Given the description of an element on the screen output the (x, y) to click on. 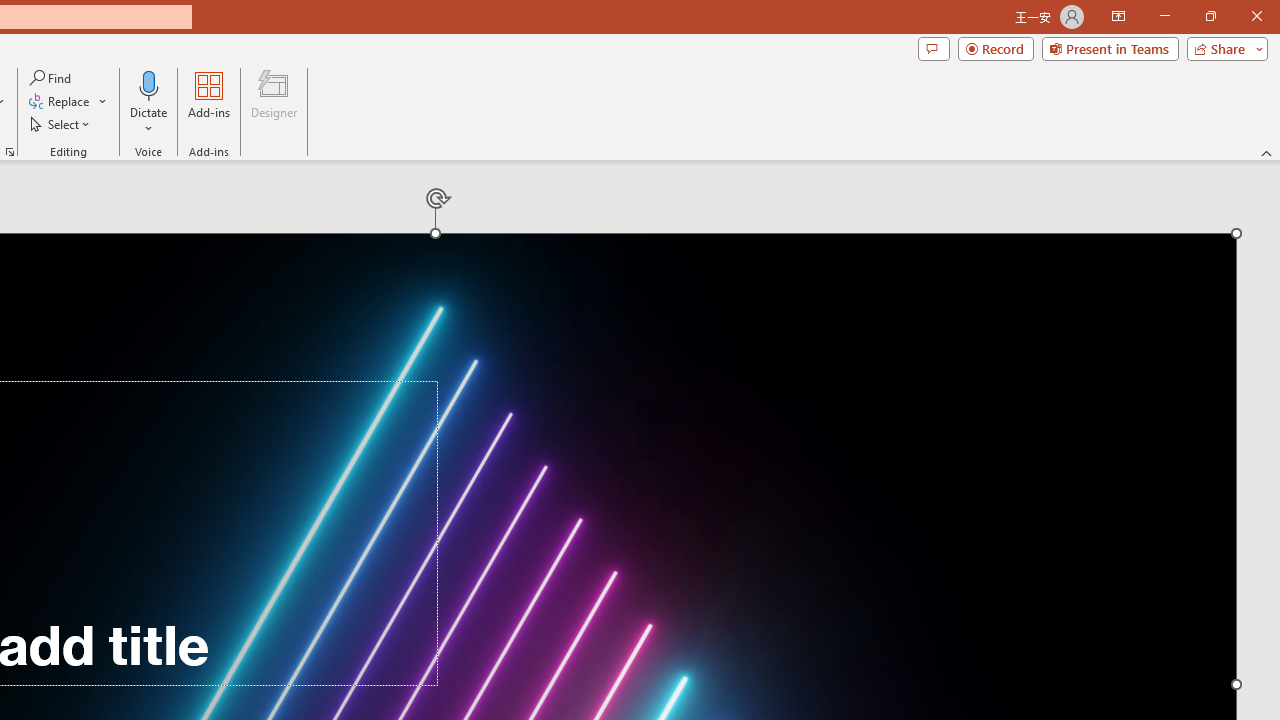
Select (61, 124)
Format Object... (9, 151)
